Given the description of an element on the screen output the (x, y) to click on. 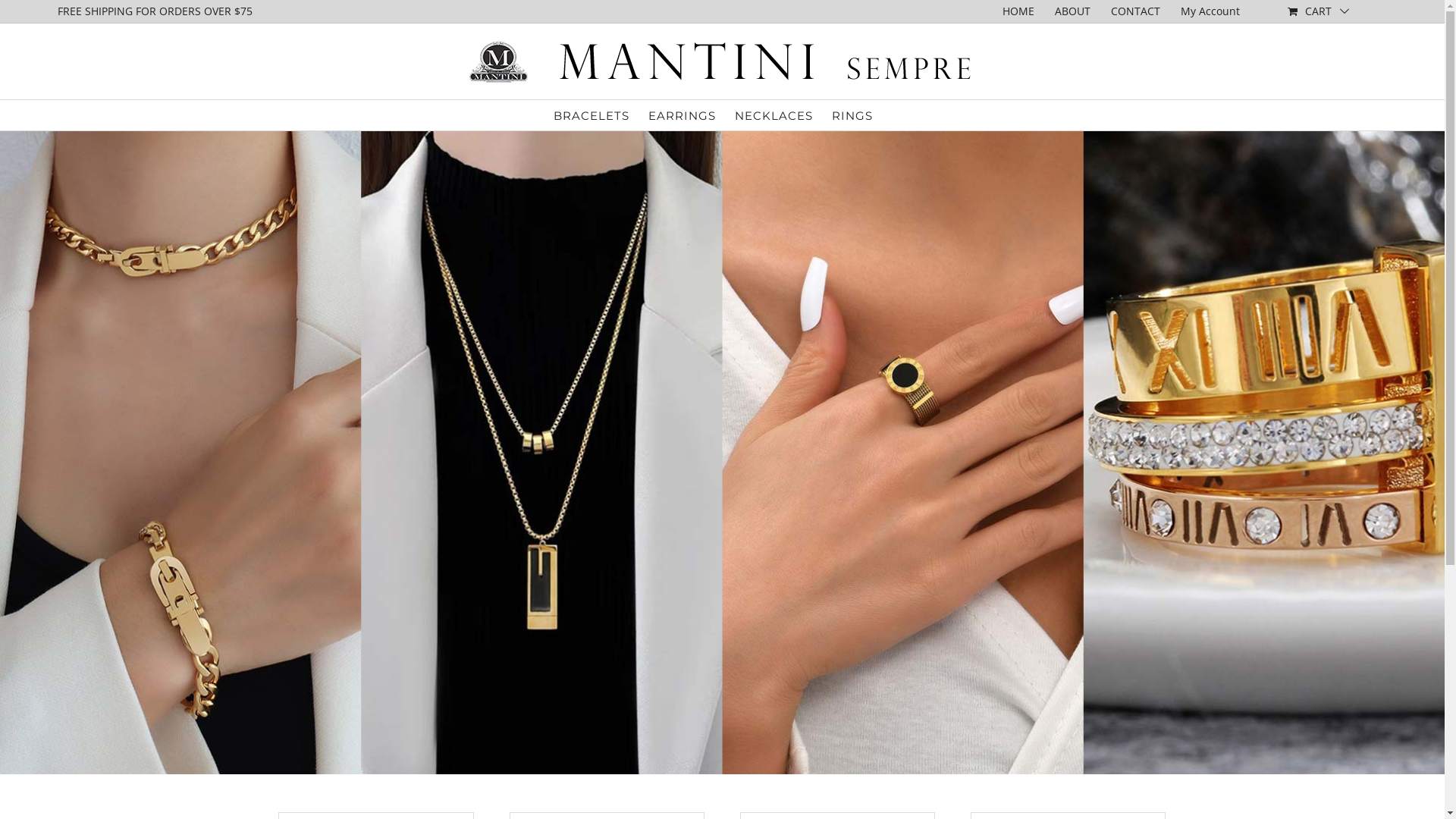
CONTACT Element type: text (1135, 11)
HOME Element type: text (1018, 11)
My Account Element type: text (1209, 11)
Online Affordable Jewellery by Mantini Sempre Element type: hover (722, 452)
RINGS Element type: text (851, 115)
NECKLACES Element type: text (773, 115)
BRACELETS Element type: text (591, 115)
ABOUT Element type: text (1072, 11)
CART Element type: text (1318, 11)
Log In Element type: text (1258, 150)
EARRINGS Element type: text (681, 115)
